Given the description of an element on the screen output the (x, y) to click on. 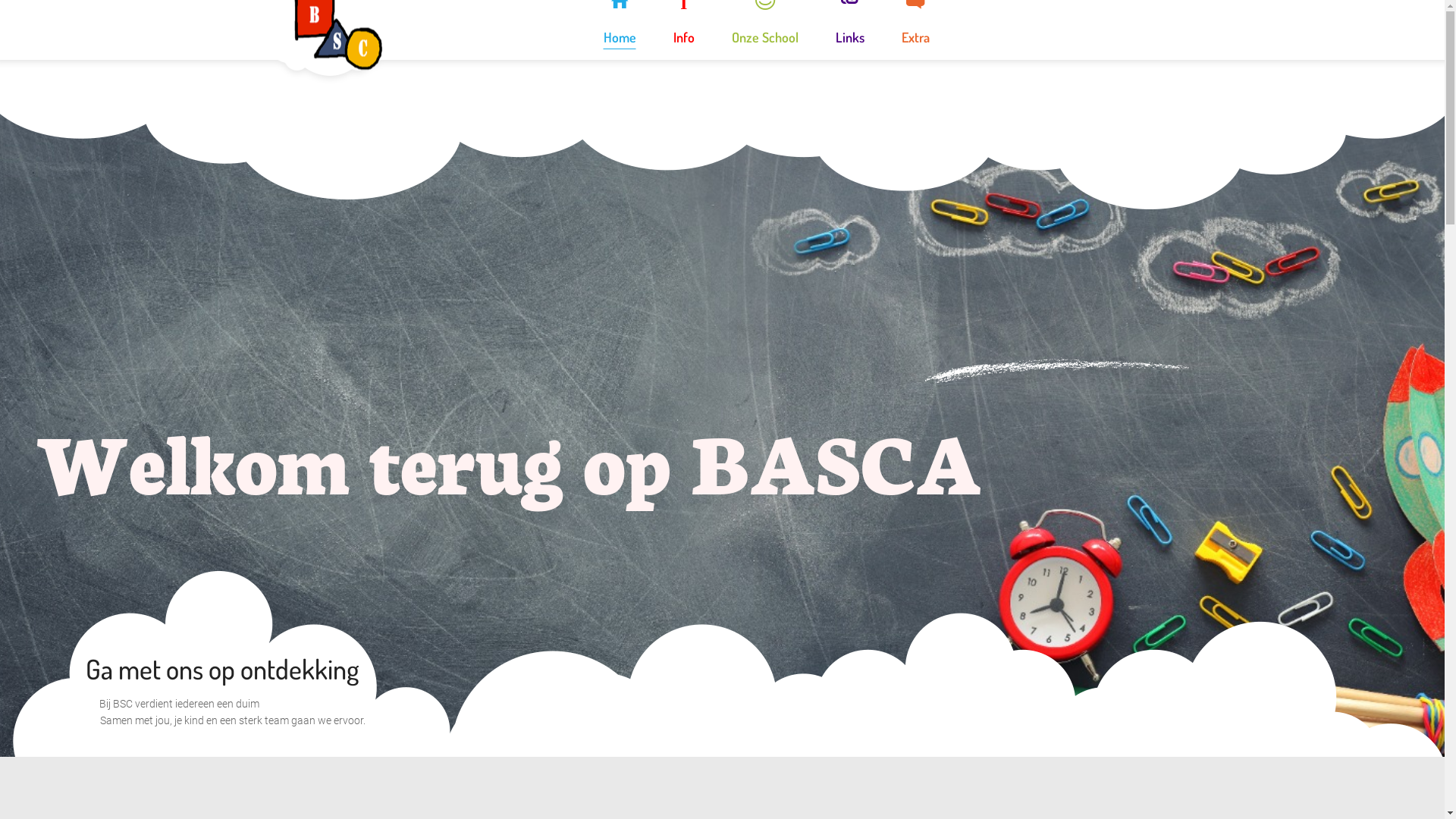
Links Element type: text (849, 29)
Onze School Element type: text (764, 29)
Home Element type: text (618, 29)
Extra Element type: text (915, 29)
Info Element type: text (683, 29)
